Given the description of an element on the screen output the (x, y) to click on. 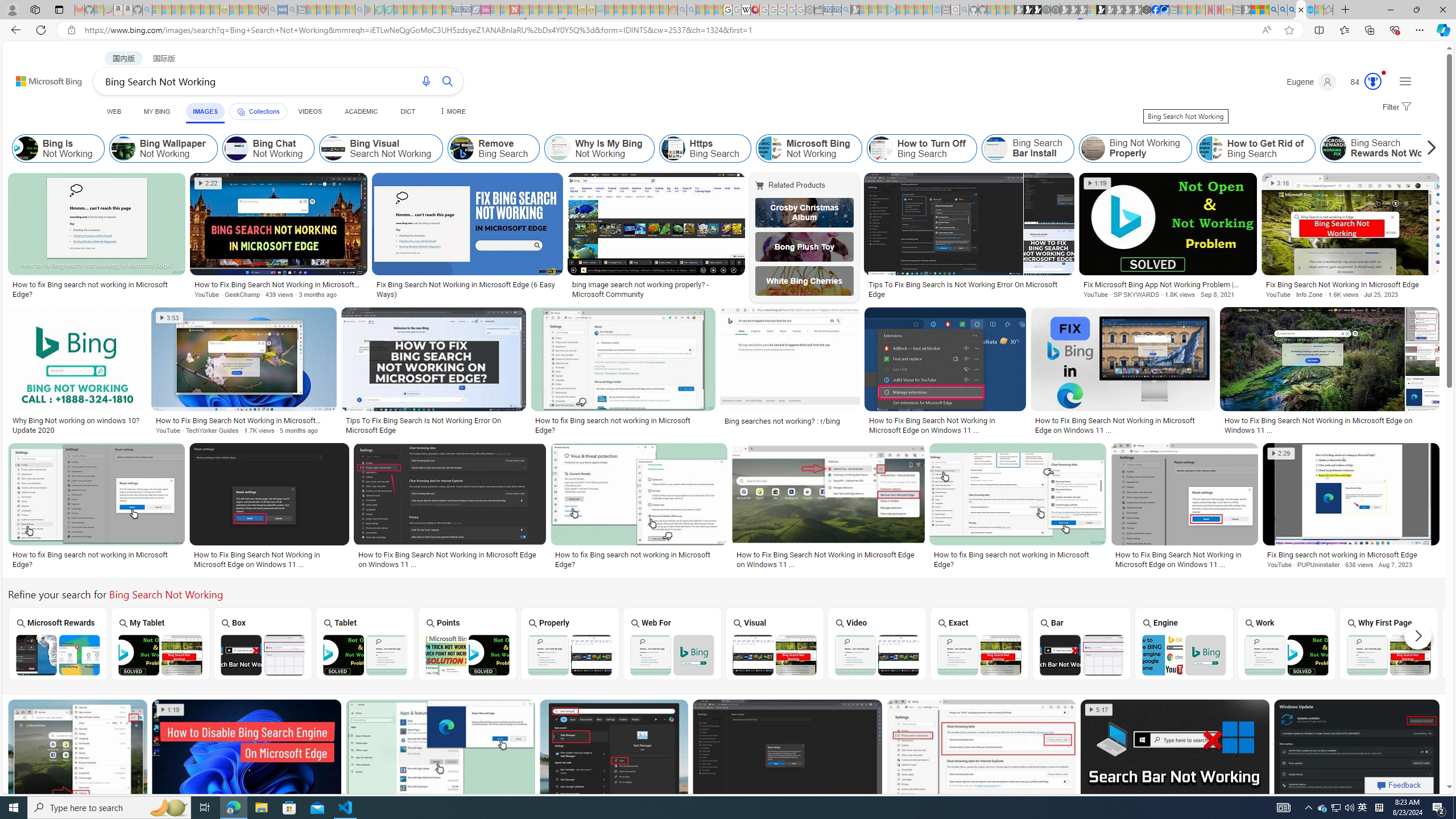
Bing Is Not Working (58, 148)
Bing searches not working? : r/bing (790, 420)
Bing Search the Web for Image Not Working Web For (671, 643)
Work (1286, 643)
Bing Video Search Not Working (876, 655)
